Given the description of an element on the screen output the (x, y) to click on. 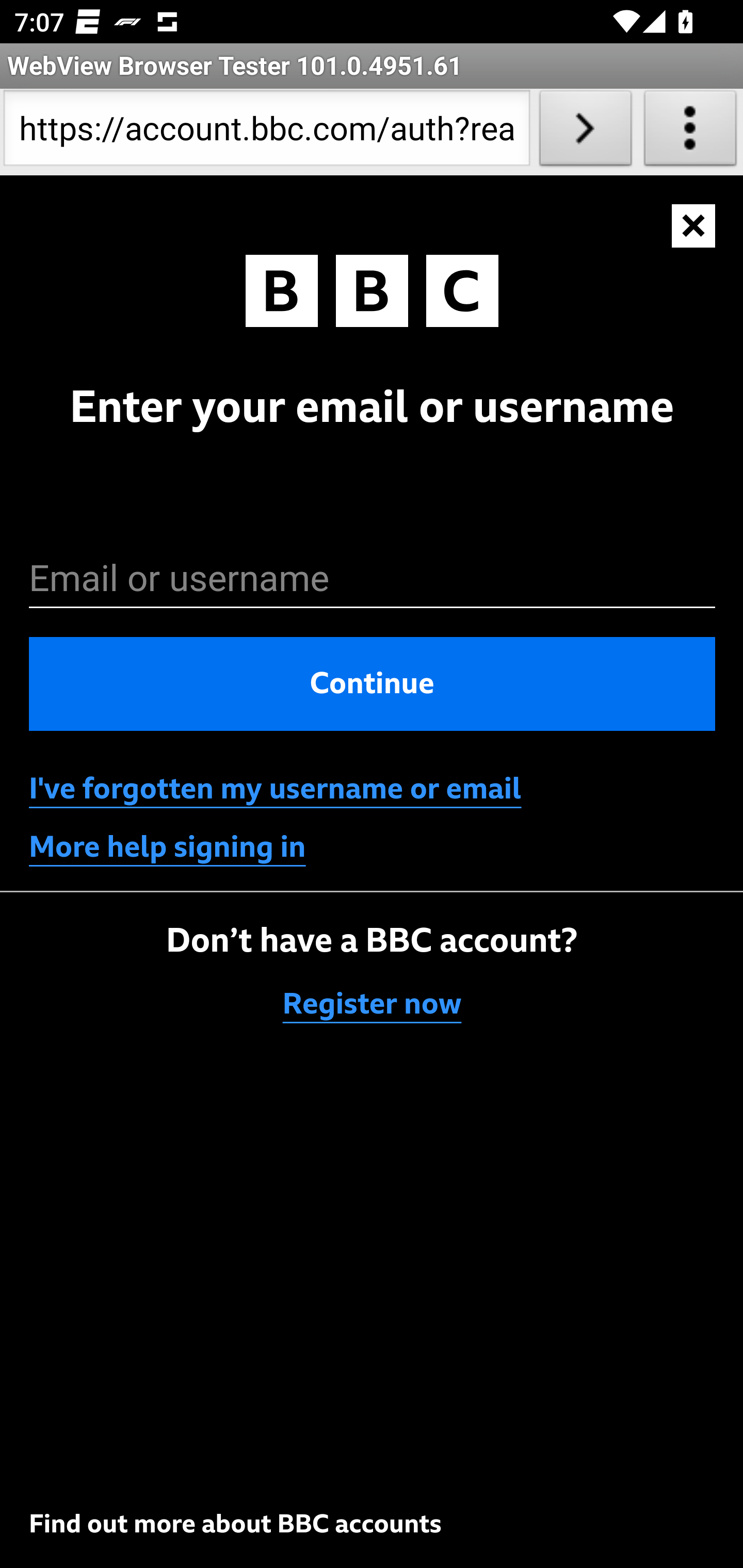
Load URL (585, 132)
About WebView (690, 132)
Close and return to where you originally came from (694, 226)
Go to the BBC Homepage (371, 294)
Continue (372, 682)
I've forgotten my username or email (274, 789)
More help signing in (167, 847)
Register now (372, 1004)
Find out more about BBC accounts (235, 1523)
